Given the description of an element on the screen output the (x, y) to click on. 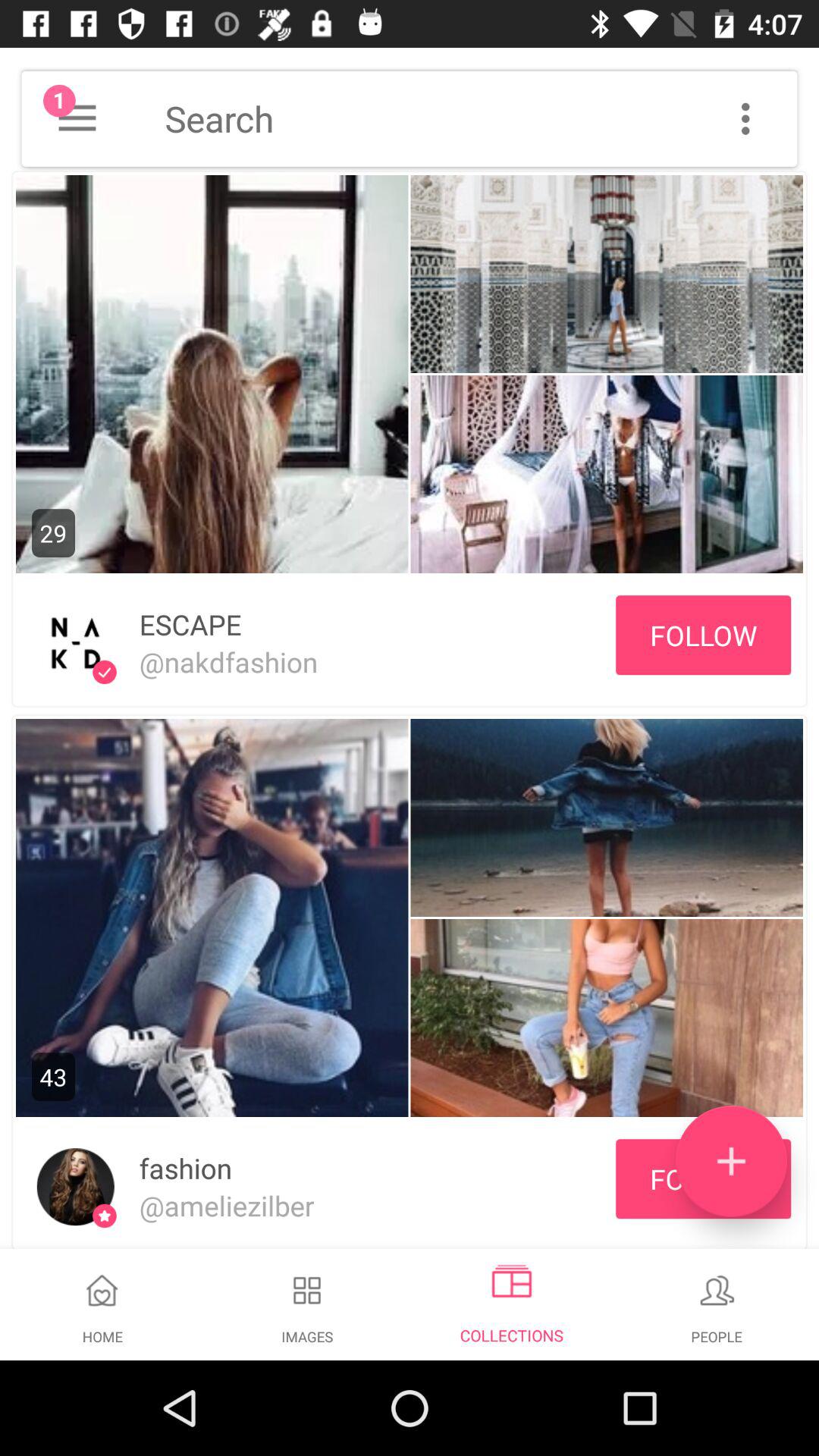
go to options (745, 118)
